Given the description of an element on the screen output the (x, y) to click on. 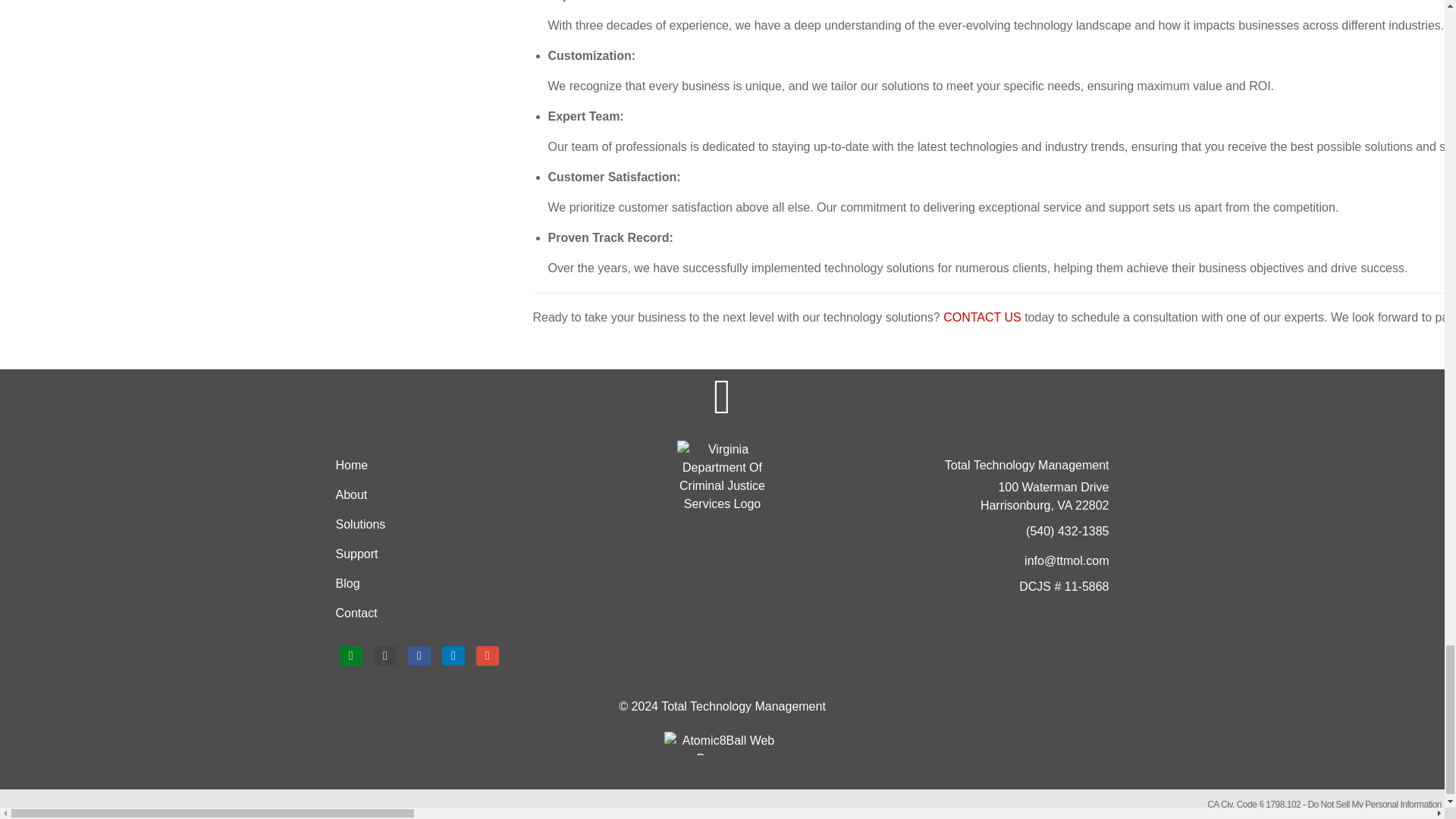
Support (491, 554)
Back to Top (722, 397)
Do Not Sell My Personal Information (1374, 804)
Solutions (491, 524)
Blog (491, 583)
About (491, 494)
Home (491, 465)
Contact (491, 613)
CONTACT US (982, 317)
